Given the description of an element on the screen output the (x, y) to click on. 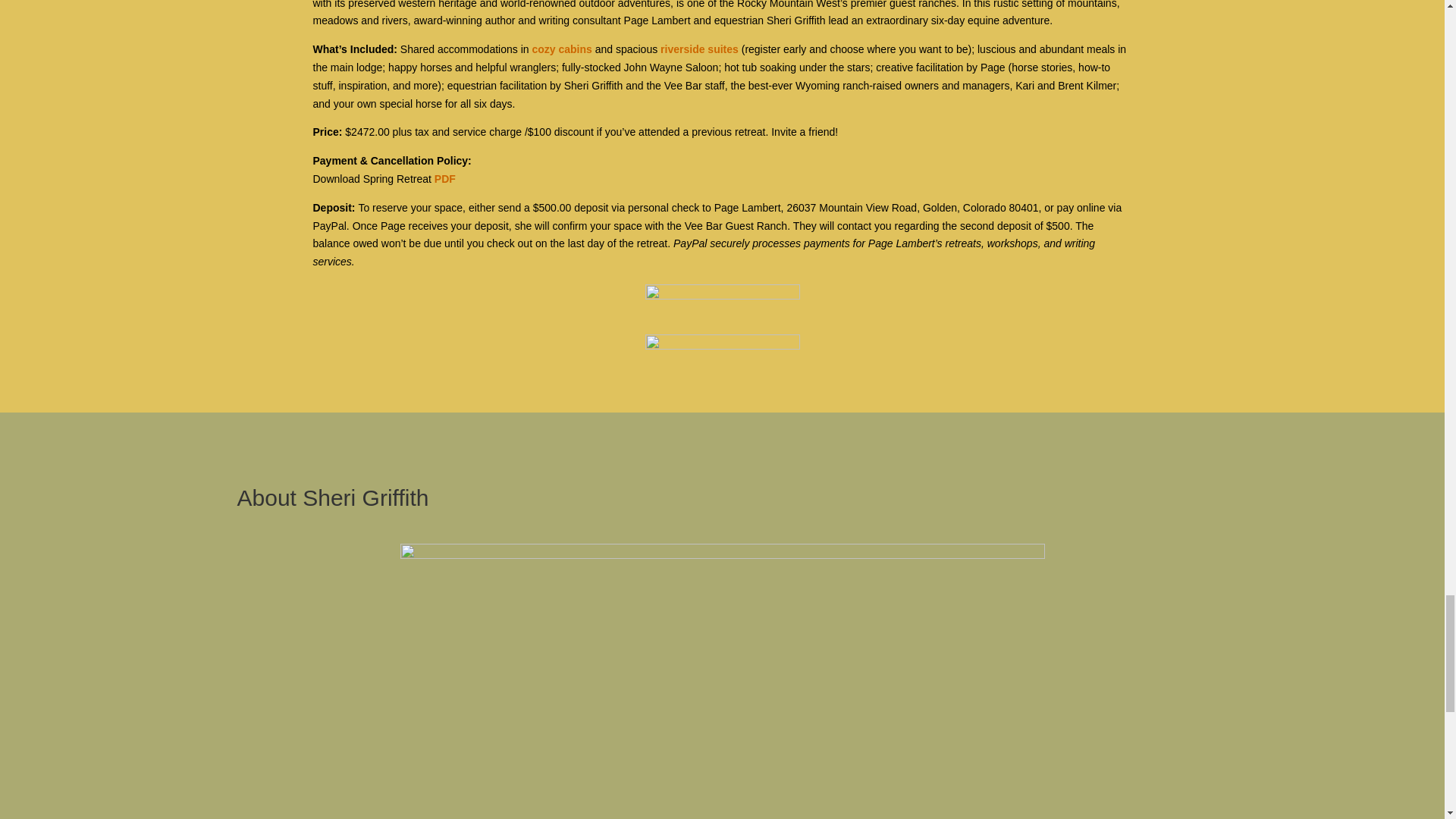
riverside suites (699, 49)
cozy cabins (561, 49)
PDF (444, 178)
